Given the description of an element on the screen output the (x, y) to click on. 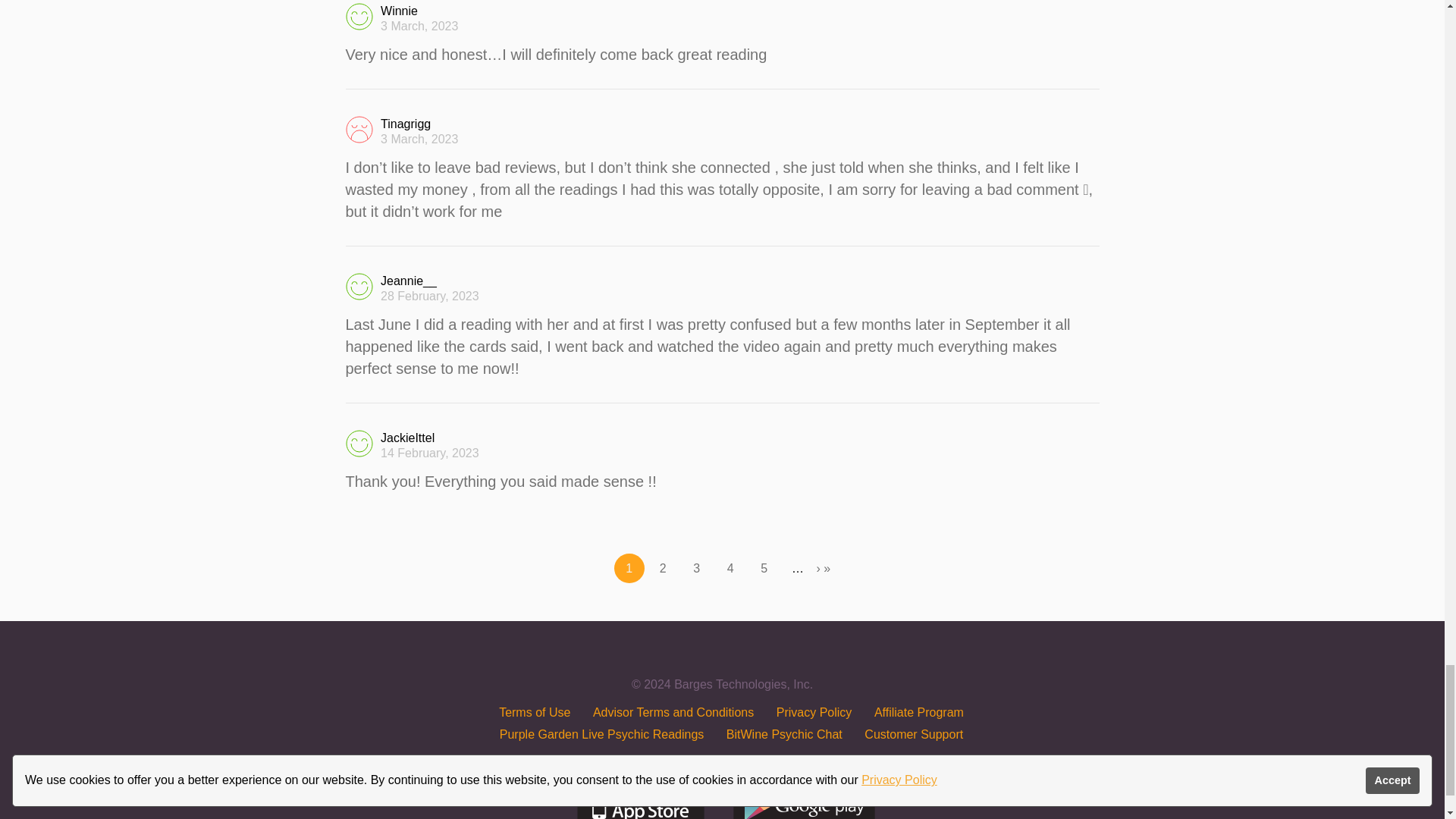
Privacy Policy (813, 712)
Affiliate Program (919, 712)
Customer Support (913, 734)
BitWine Psychic Chat (784, 734)
Advisor Terms and Conditions (673, 712)
Purple Garden Live Psychic Readings (601, 734)
Terms of Use (534, 712)
